Given the description of an element on the screen output the (x, y) to click on. 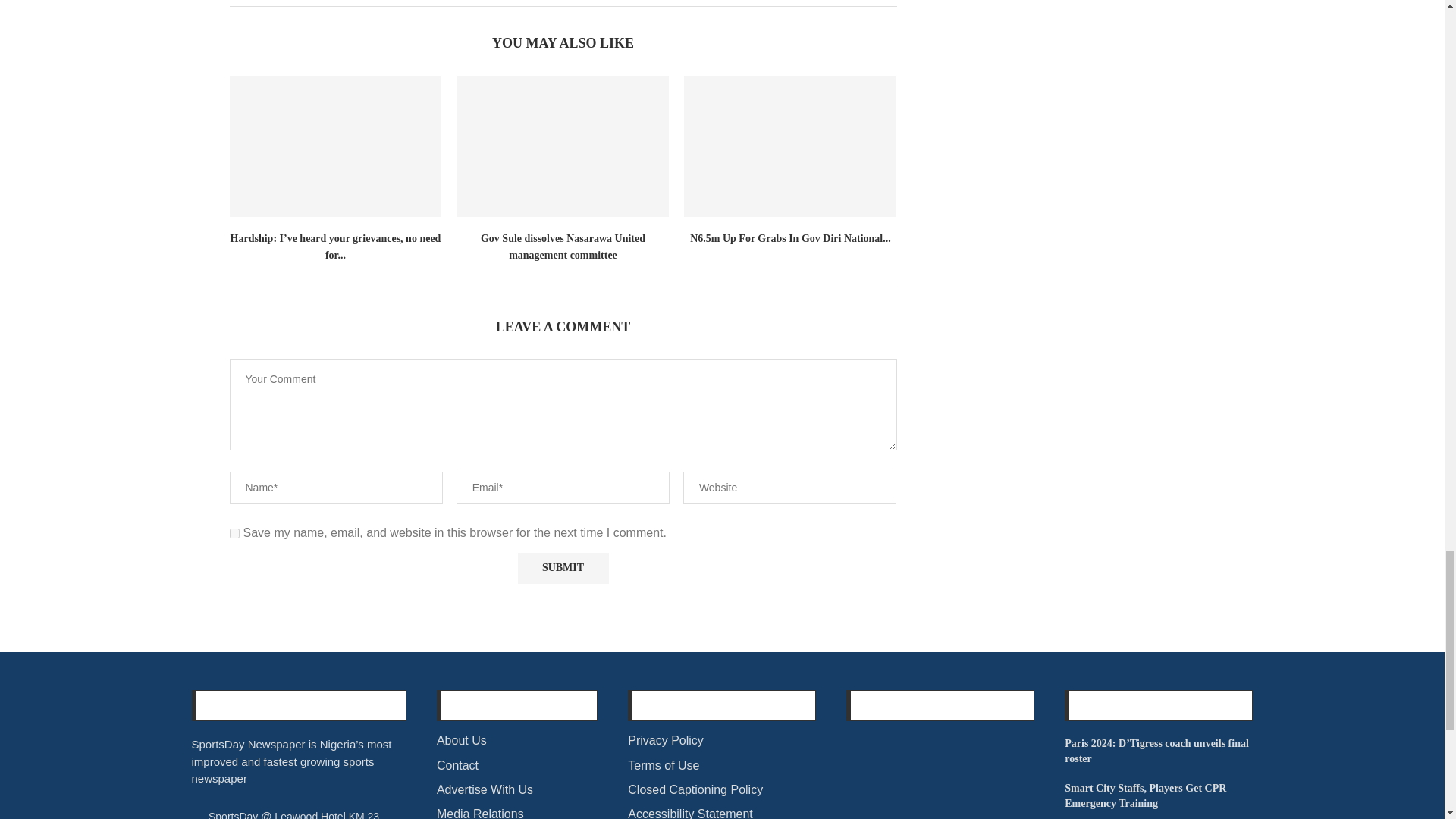
yes (233, 533)
Gov Sule dissolves Nasarawa United management committee (562, 146)
N6.5m Up For Grabs In Gov Diri National Scrabble Classic (790, 146)
Submit (562, 567)
